Given the description of an element on the screen output the (x, y) to click on. 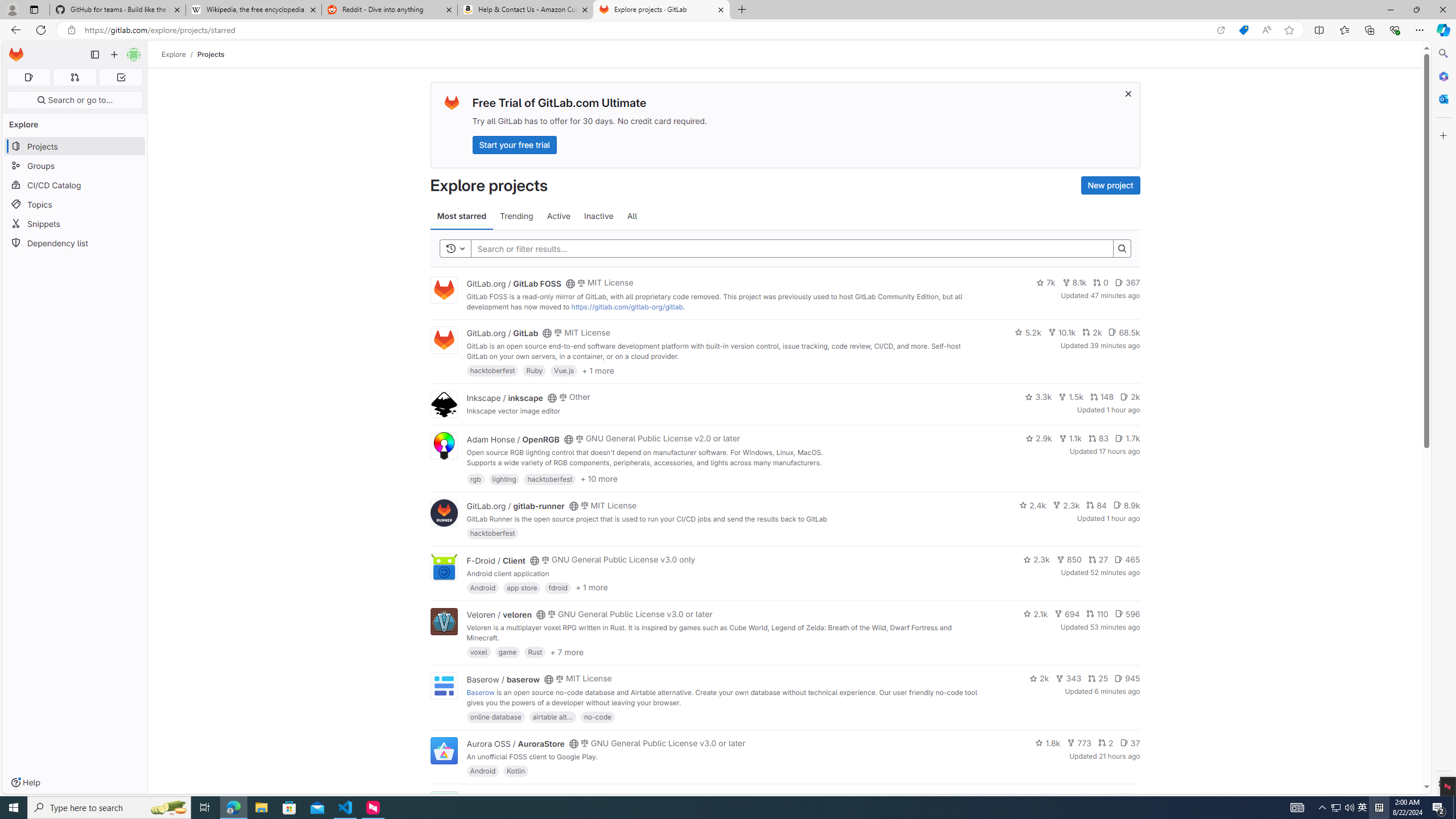
2.4k (1032, 504)
850 (1068, 559)
Open in app (1220, 29)
27 (1097, 559)
773 (1079, 742)
Projects (211, 53)
1.1k (1069, 438)
83 (1098, 438)
Shopping in Microsoft Edge (1243, 29)
